Given the description of an element on the screen output the (x, y) to click on. 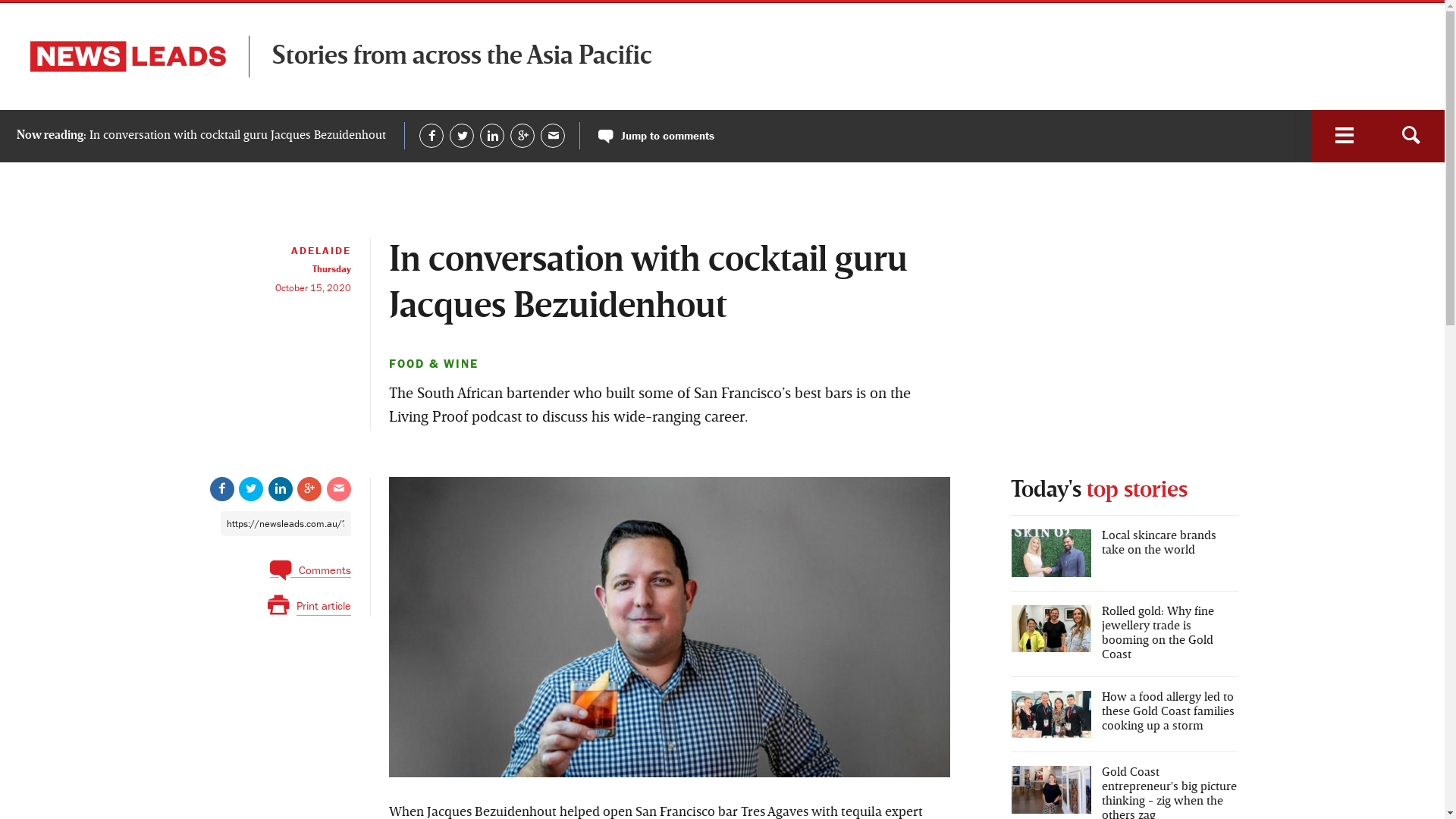
FOOD & WINE Element type: text (432, 362)
Comments Element type: text (310, 565)
Local skincare brands take on the world Element type: text (1123, 553)
Jump to comments Element type: text (656, 135)
Print article Element type: text (309, 605)
